Given the description of an element on the screen output the (x, y) to click on. 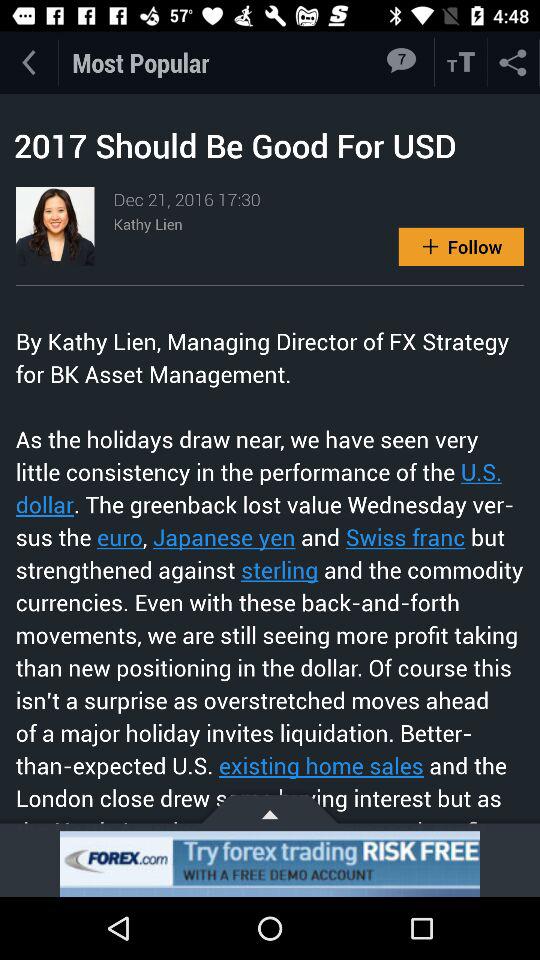
follow (461, 246)
